Given the description of an element on the screen output the (x, y) to click on. 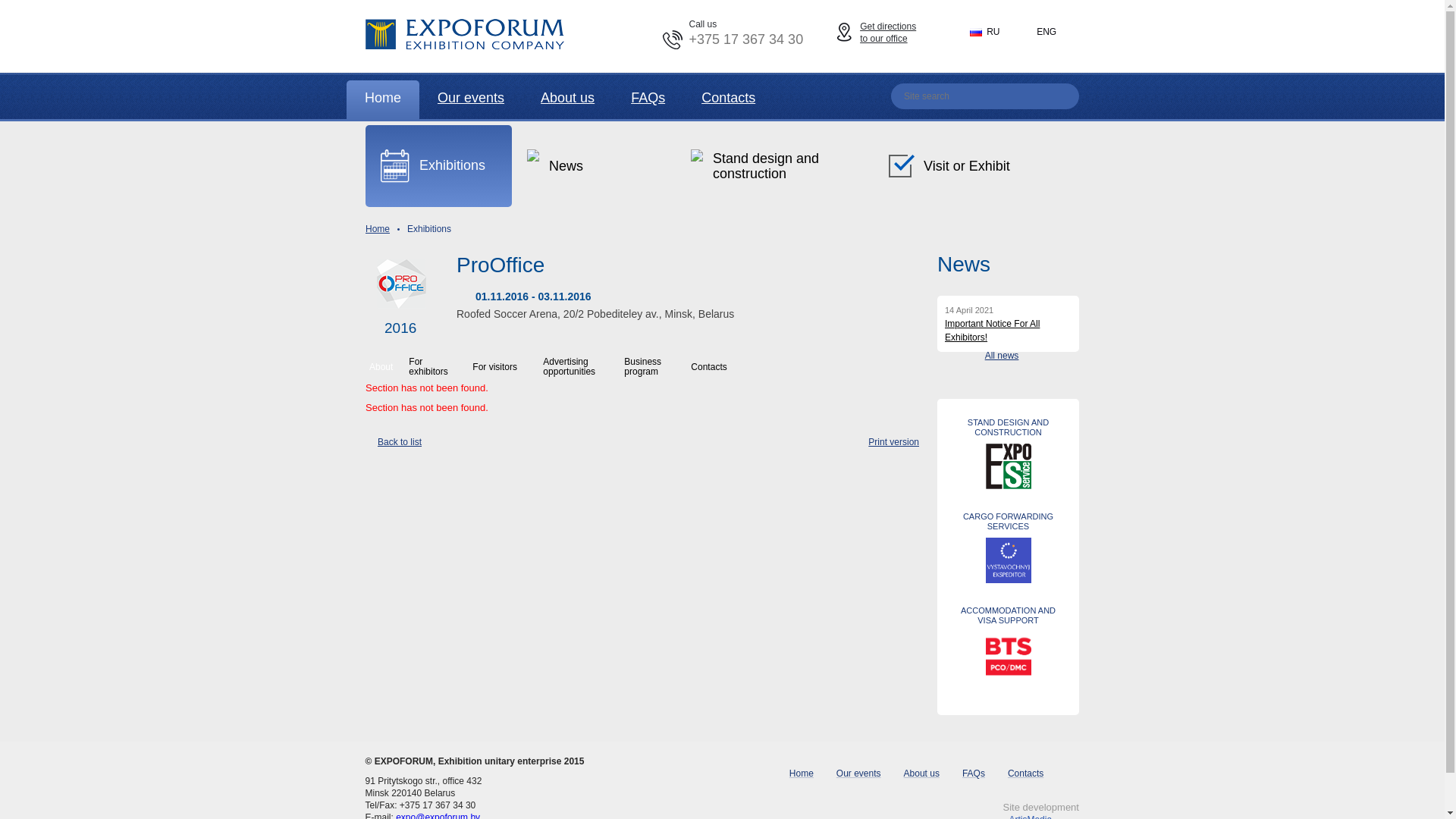
For exhibitors Element type: text (436, 364)
ENG Element type: text (1042, 32)
All news Element type: text (1007, 355)
ProOffice Element type: text (642, 274)
CARGO FORWARDING SERVICES Element type: text (1008, 521)
About us Element type: text (567, 99)
Business program Element type: text (654, 364)
Contacts Element type: text (724, 364)
Home Element type: text (382, 99)
Home Element type: text (801, 773)
About Element type: text (384, 364)
Get directions to our office Element type: text (892, 32)
RU Element type: text (990, 32)
Contacts Element type: text (1025, 773)
Our events Element type: text (470, 99)
Our events Element type: text (858, 773)
ACCOMMODATION AND VISA SUPPORT Element type: text (1008, 615)
Advertising opportunities Element type: text (579, 364)
FAQs Element type: text (647, 99)
Home Element type: text (377, 228)
About us Element type: text (921, 773)
For visitors Element type: text (503, 364)
Back to list Element type: text (393, 441)
Important Notice For All Exhibitors! Element type: text (991, 330)
STAND DESIGN AND CONSTRUCTION Element type: text (1008, 427)
Contacts Element type: text (728, 99)
Print version Element type: text (886, 442)
FAQs Element type: text (973, 773)
